Given the description of an element on the screen output the (x, y) to click on. 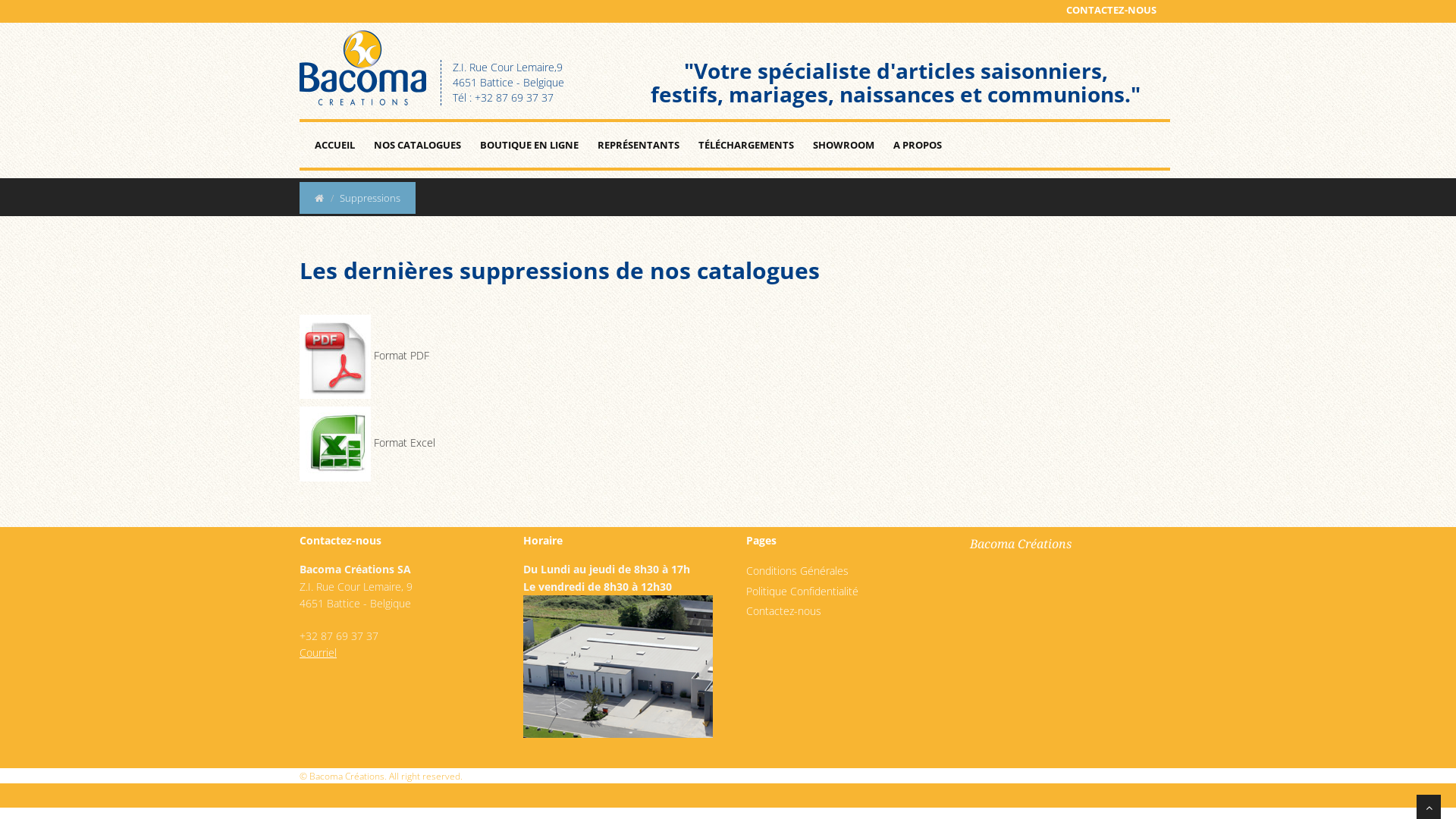
A PROPOS Element type: text (917, 144)
SHOWROOM Element type: text (843, 144)
Format PDF Element type: text (401, 355)
BOUTIQUE EN LIGNE Element type: text (529, 144)
ACCUEIL Element type: text (334, 144)
Courriel Element type: text (317, 652)
Contactez-nous Element type: text (783, 610)
Format Excel Element type: text (404, 442)
NOS CATALOGUES Element type: text (417, 144)
